Given the description of an element on the screen output the (x, y) to click on. 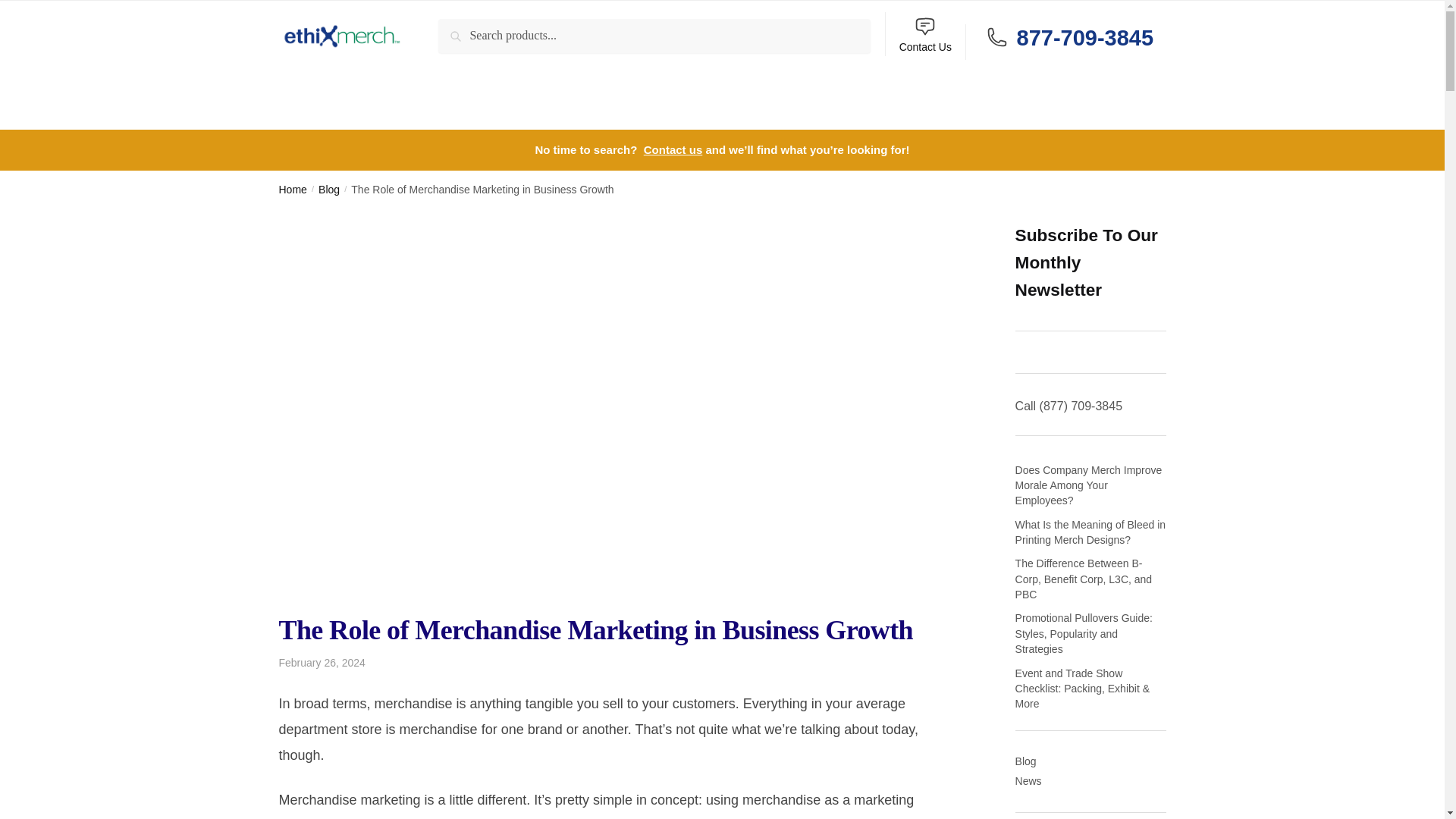
Contact Us (924, 34)
877-709-3845 (1084, 24)
Search (473, 36)
All Merch (313, 23)
